Given the description of an element on the screen output the (x, y) to click on. 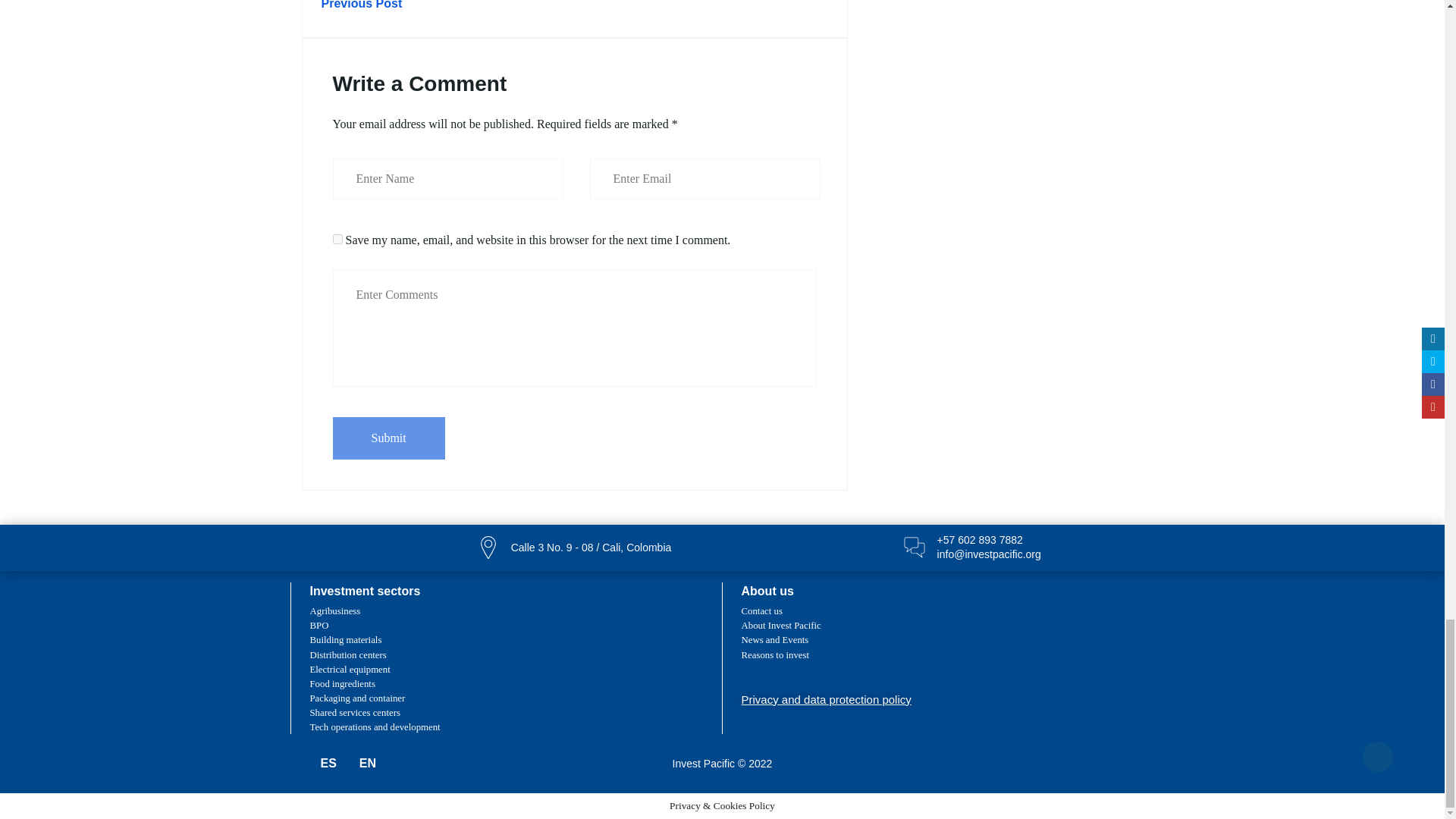
Submit (387, 437)
yes (336, 239)
